Given the description of an element on the screen output the (x, y) to click on. 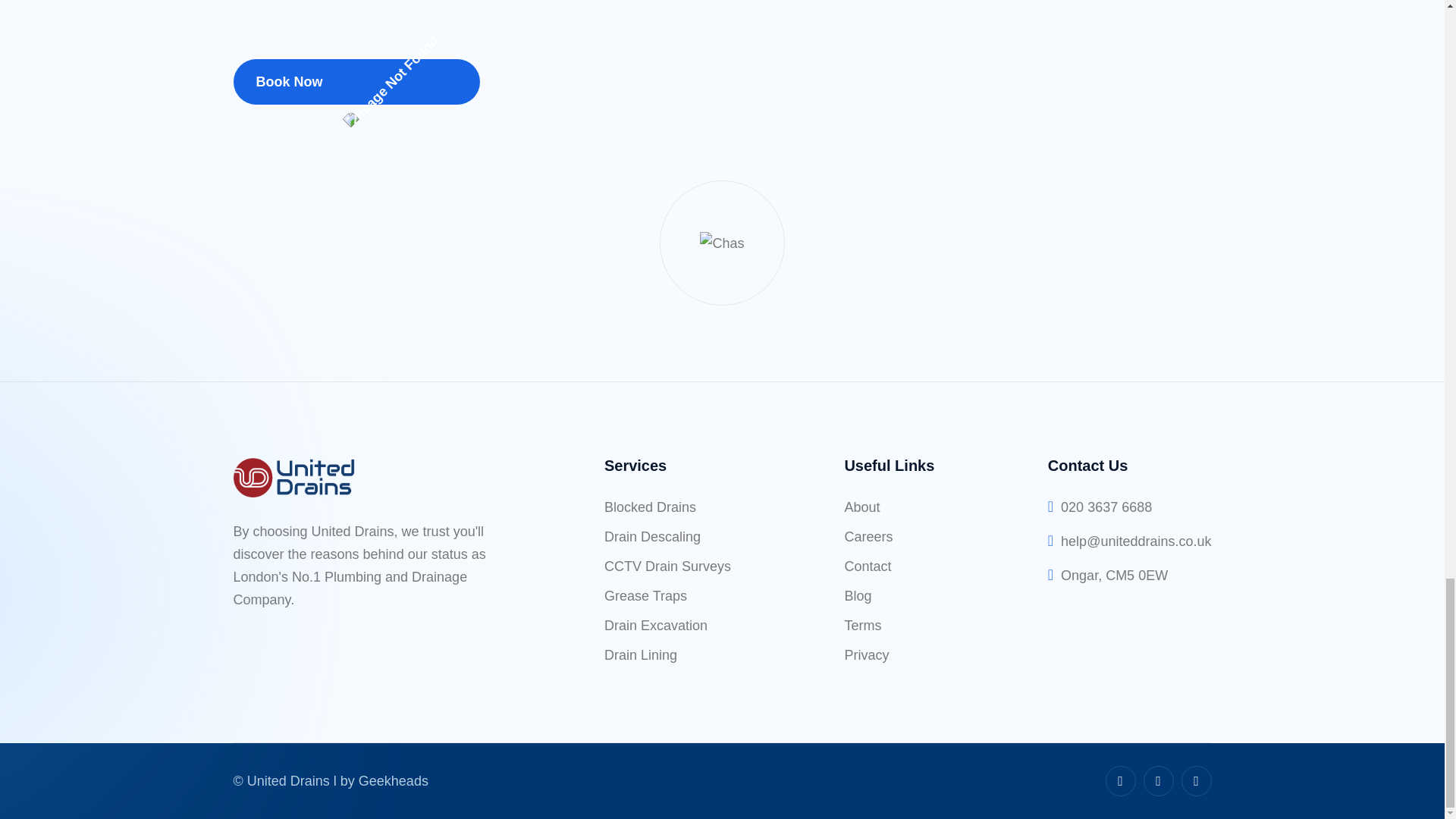
About (861, 506)
Blocked Drains (649, 507)
Drain Lining (640, 655)
Drain Excavation (655, 625)
Grease Traps (645, 596)
Book Now (356, 81)
Drain Descaling (652, 537)
CCTV Drain Surveys (667, 566)
Careers (868, 537)
